Given the description of an element on the screen output the (x, y) to click on. 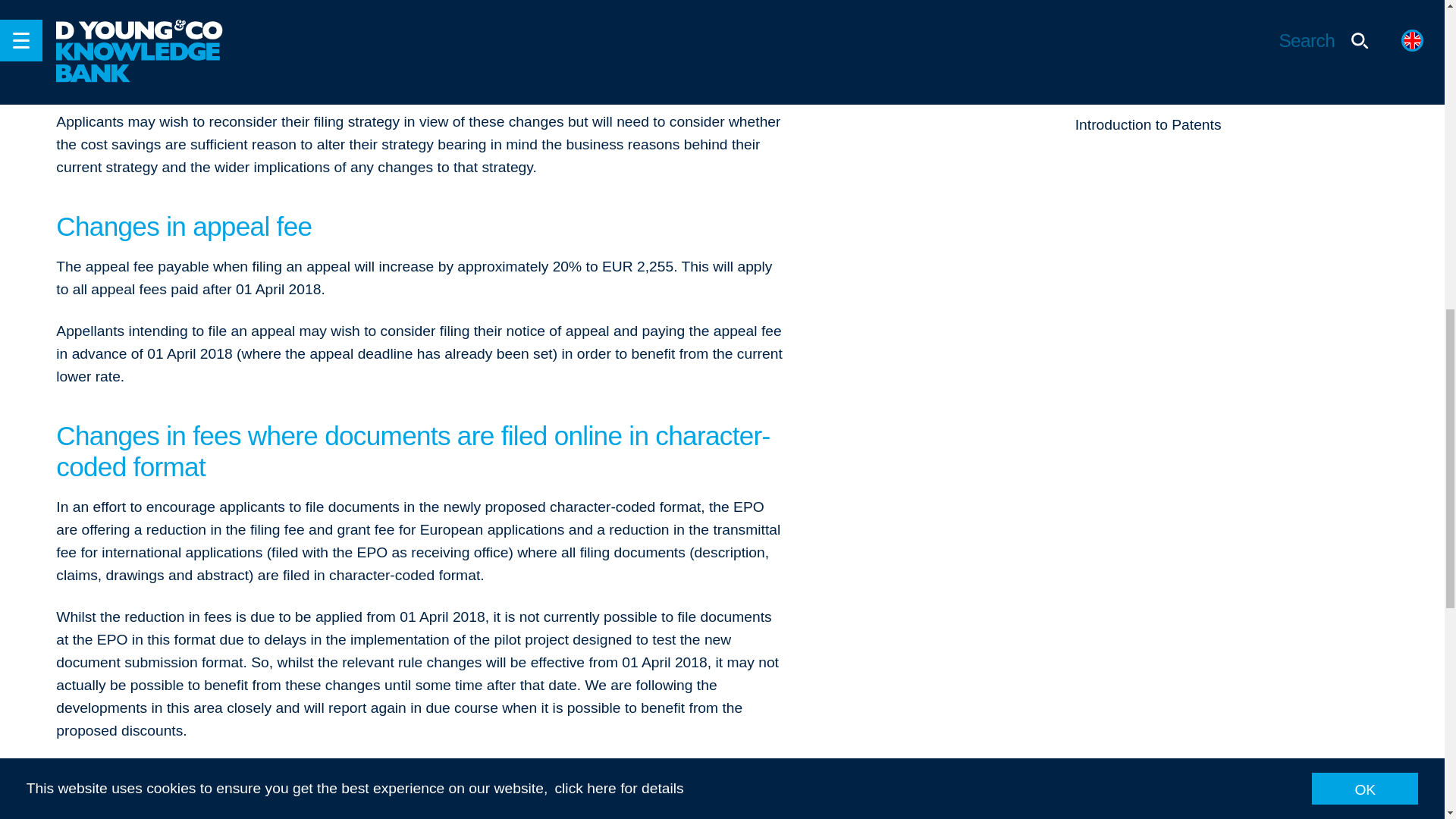
Entry title (1232, 58)
Entry title (1232, 6)
Entry title (1232, 128)
